Given the description of an element on the screen output the (x, y) to click on. 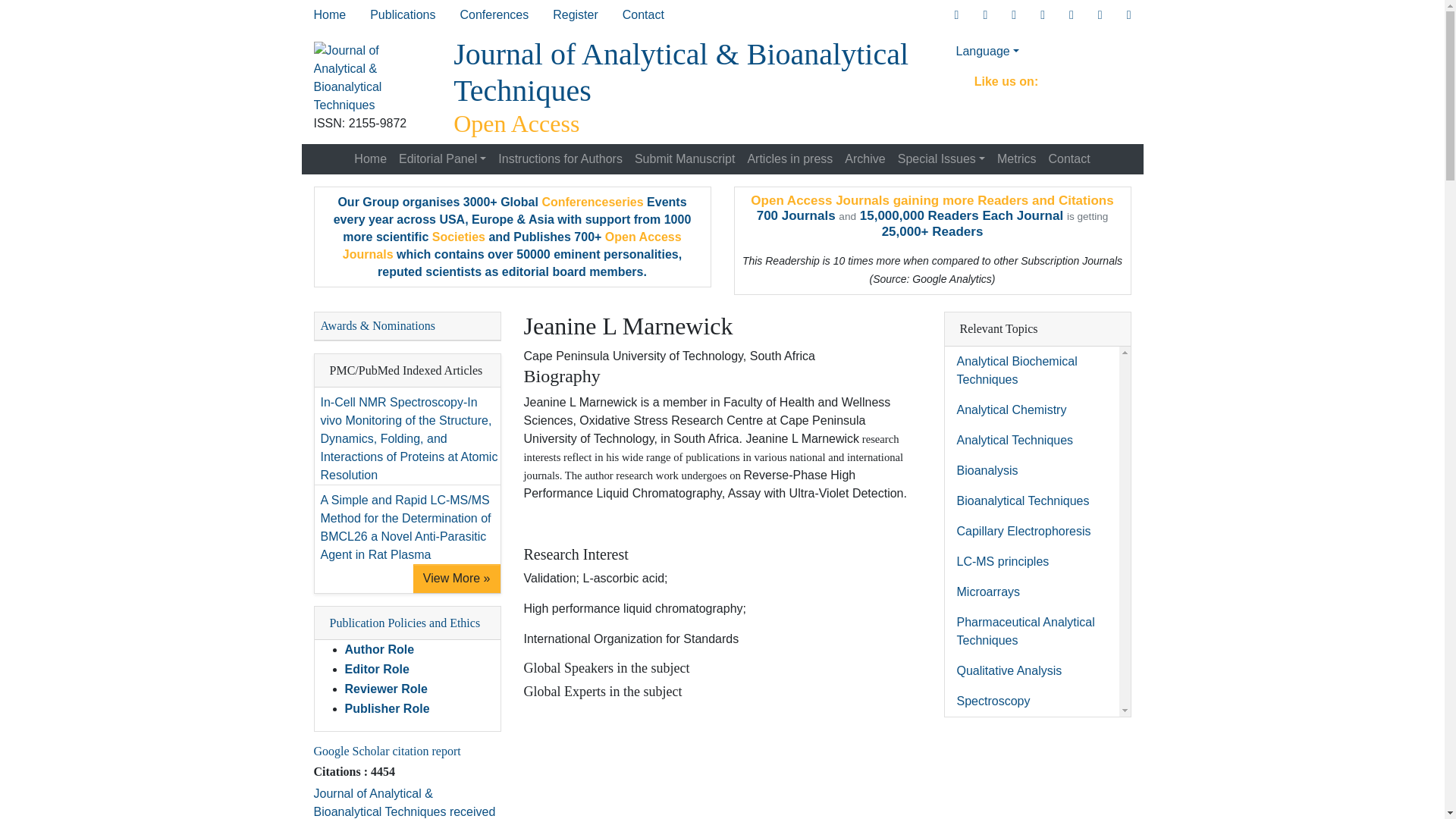
Home (329, 15)
Conferences (493, 15)
Archive (864, 159)
Language (1037, 51)
OMICS International Journals (402, 15)
Metrics (1016, 159)
Home (370, 159)
Home (329, 15)
Omics Facebook (984, 15)
Submit Manuscript (684, 159)
